Given the description of an element on the screen output the (x, y) to click on. 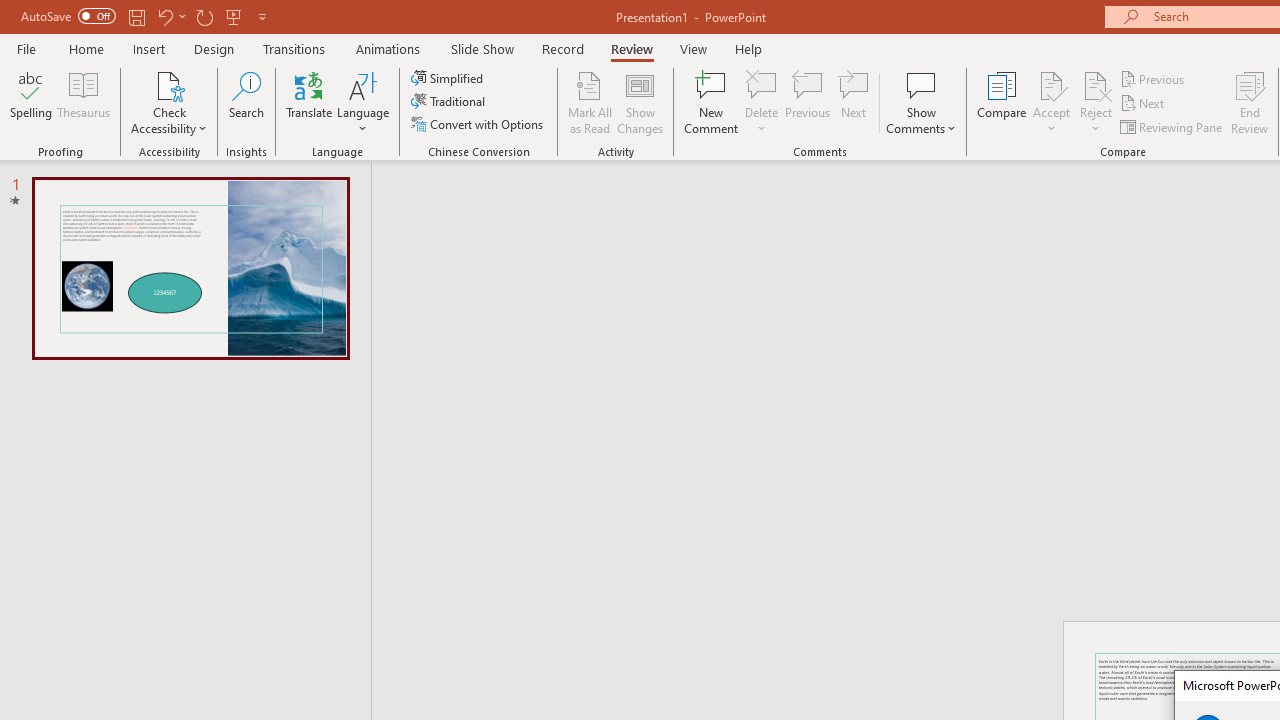
Show Changes (639, 102)
Accept (1051, 102)
Check Accessibility (169, 102)
Reject (1096, 102)
Check Accessibility (169, 84)
Mark All as Read (589, 102)
